Given the description of an element on the screen output the (x, y) to click on. 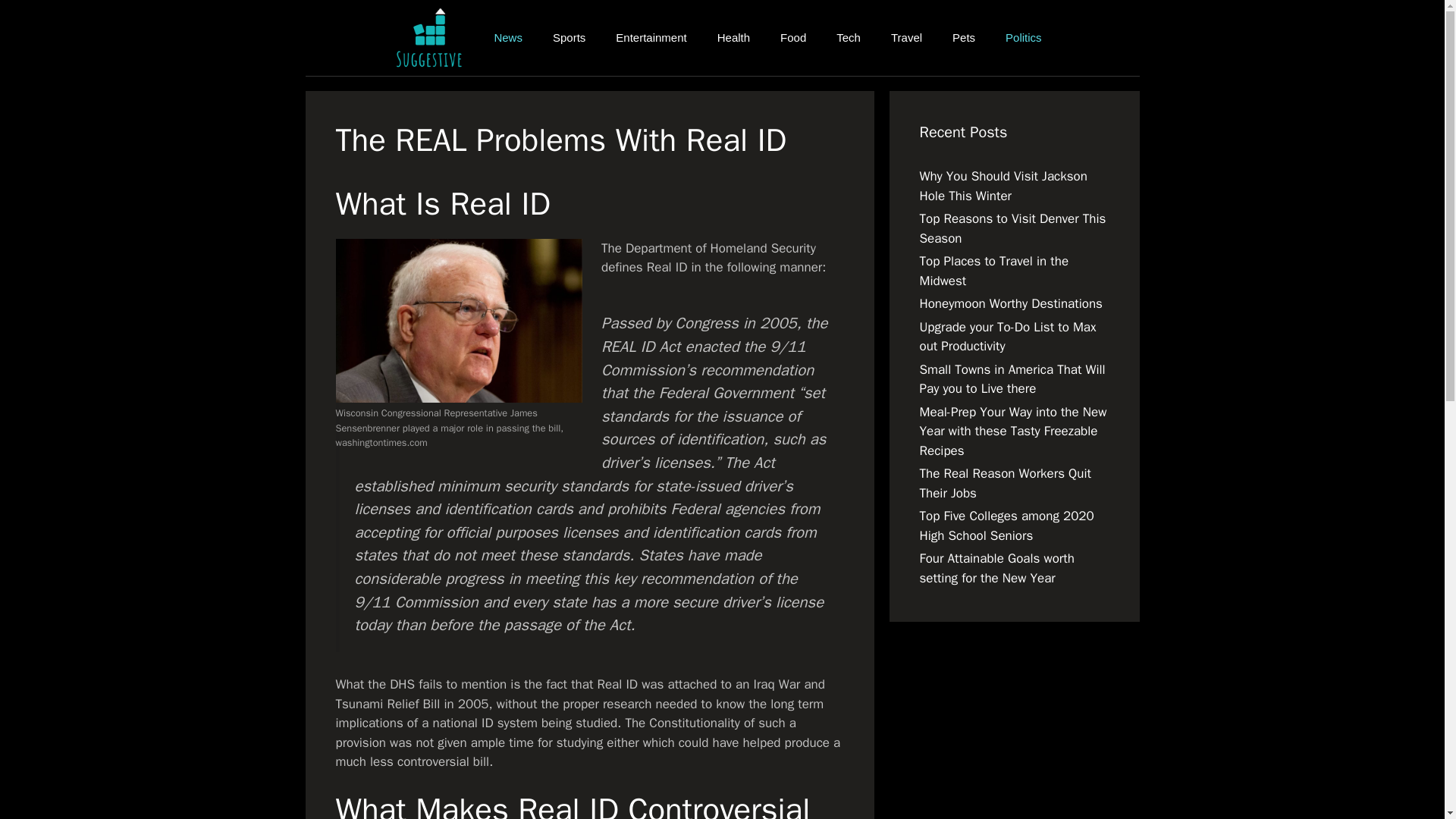
Sports (568, 37)
Pets (963, 37)
Suggestive.mobi (432, 38)
Food (793, 37)
Top Five Colleges among 2020 High School Seniors (1005, 525)
Upgrade your To-Do List to Max out Productivity (1007, 335)
Why You Should Visit Jackson Hole This Winter (1002, 185)
Travel (906, 37)
Small Towns in America That Will Pay you to Live there (1011, 378)
Entertainment (650, 37)
News (508, 37)
Four Attainable Goals worth setting for the New Year (996, 568)
Top Reasons to Visit Denver This Season (1011, 228)
Honeymoon Worthy Destinations (1010, 303)
